Given the description of an element on the screen output the (x, y) to click on. 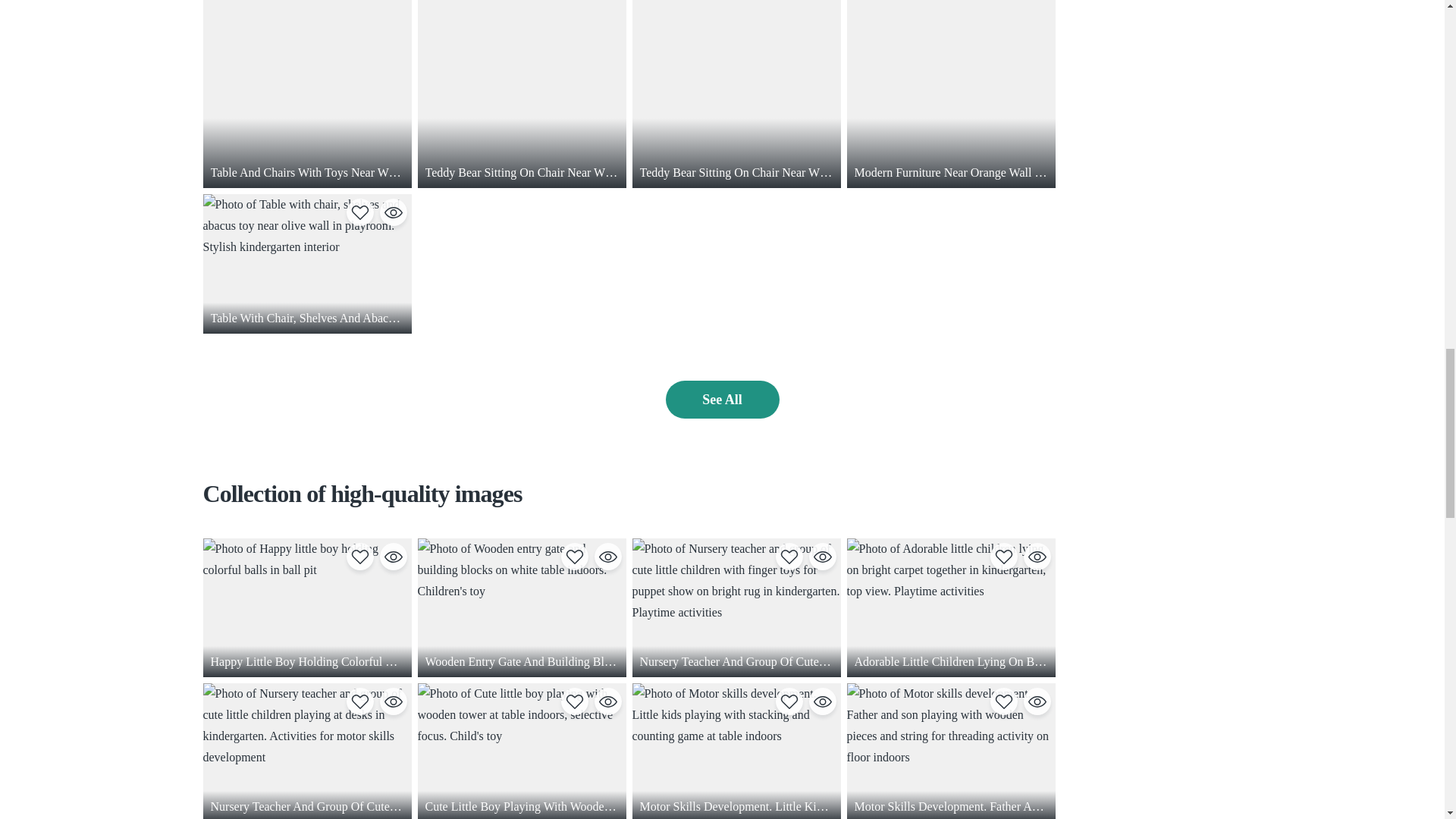
Happy little boy holding colorful balls in ball pit (307, 607)
